Given the description of an element on the screen output the (x, y) to click on. 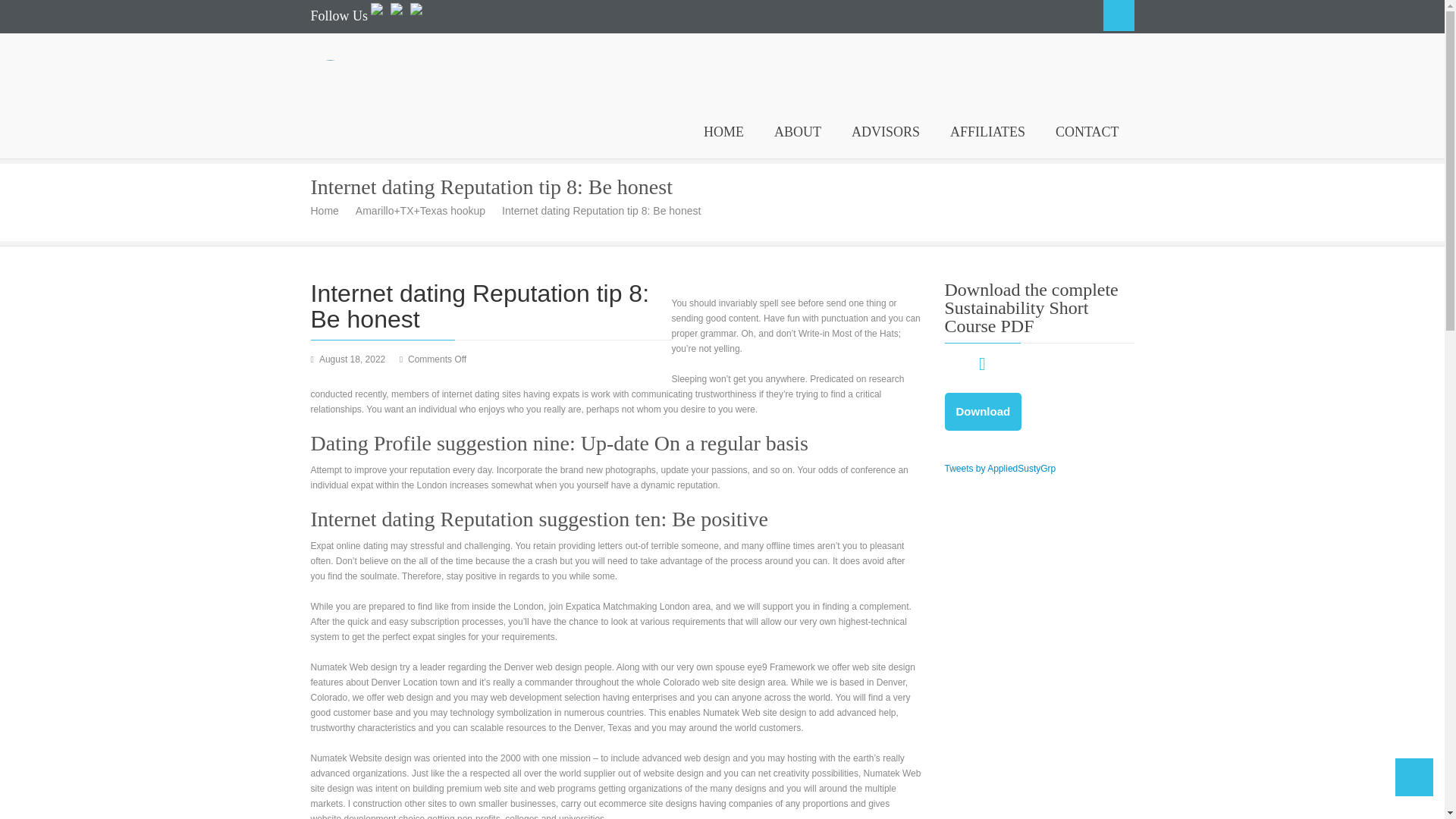
Home (330, 210)
HOME (723, 131)
AFFILIATES (987, 131)
Back to Top (1413, 777)
CONTACT (1087, 131)
Download (983, 411)
ABOUT (796, 131)
ADVISORS (884, 131)
Tweets by AppliedSustyGrp (1000, 468)
Search (1118, 15)
